Given the description of an element on the screen output the (x, y) to click on. 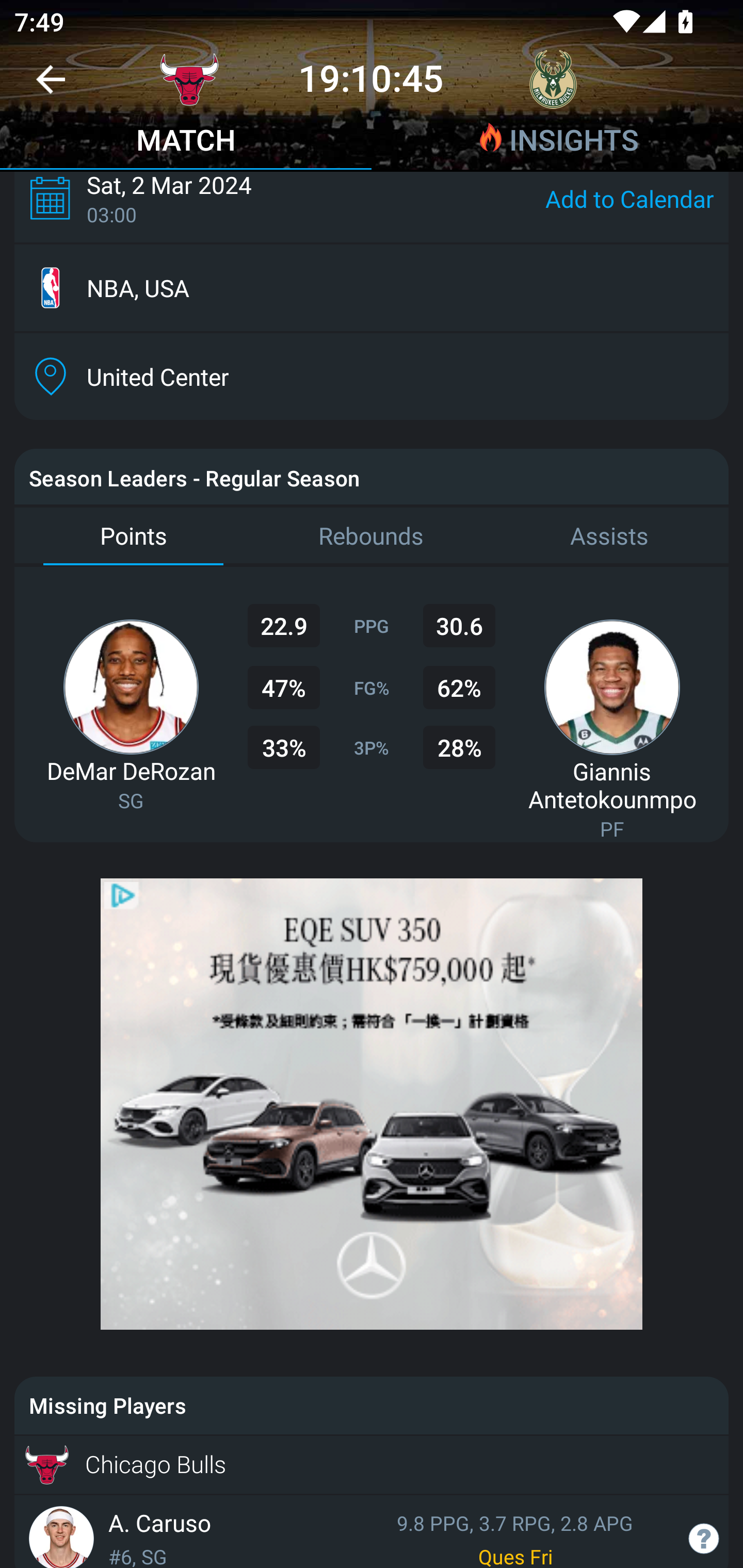
Navigate up (50, 86)
MATCH (185, 142)
INSIGHTS (557, 142)
Sat, 2 Mar 2024 03:00 Add to Calendar (371, 206)
NBA, USA (371, 287)
United Center (371, 376)
Rebounds (371, 537)
Assists (609, 537)
DeMar DeRozan (131, 770)
Giannis Antetokounmpo (611, 785)
Advertisement (371, 1103)
Advertisement (371, 1103)
Missing Players (371, 1405)
Chicago Bulls (371, 1465)
